Given the description of an element on the screen output the (x, y) to click on. 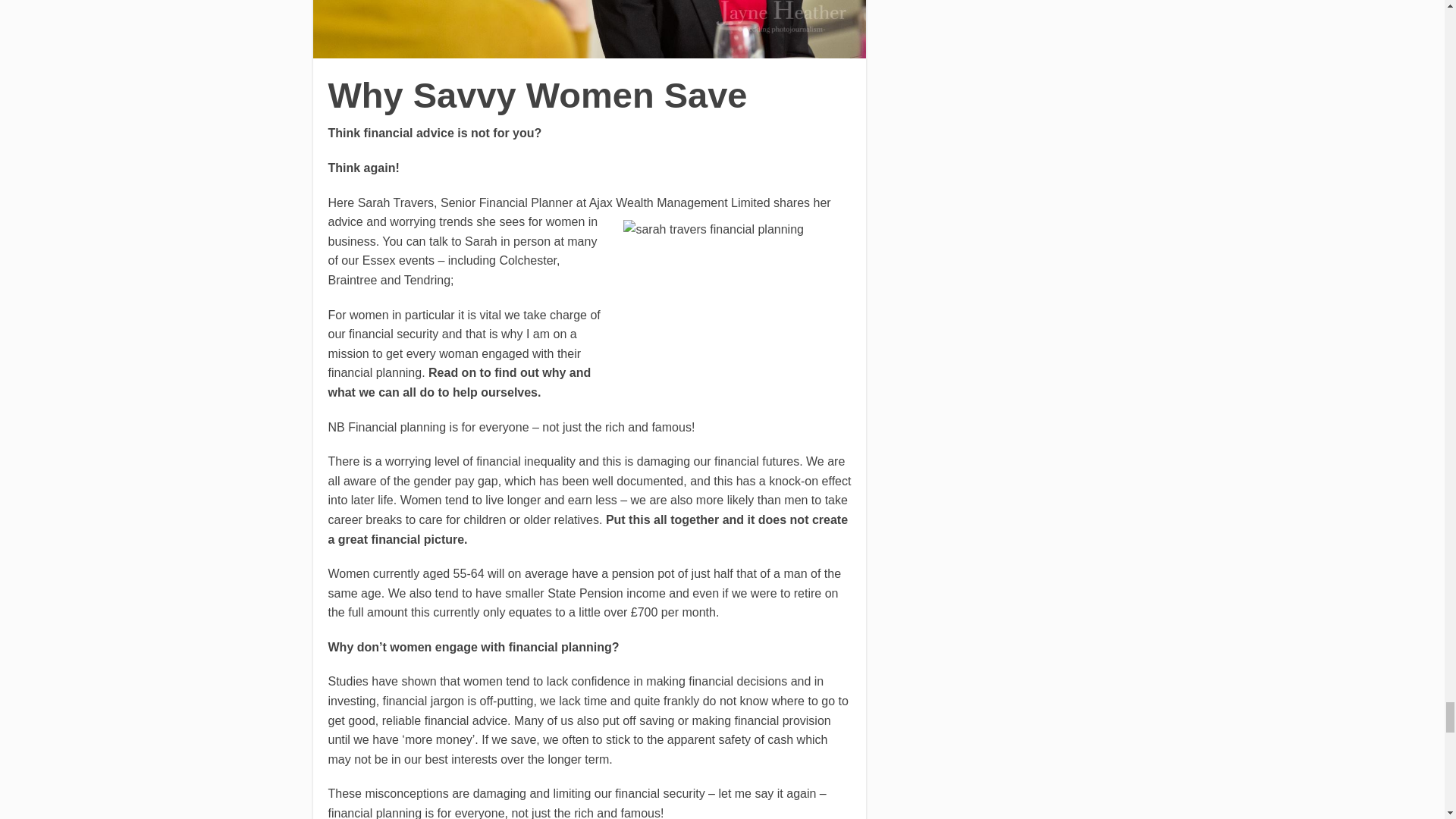
Why Savvy Women Save (589, 29)
